Given the description of an element on the screen output the (x, y) to click on. 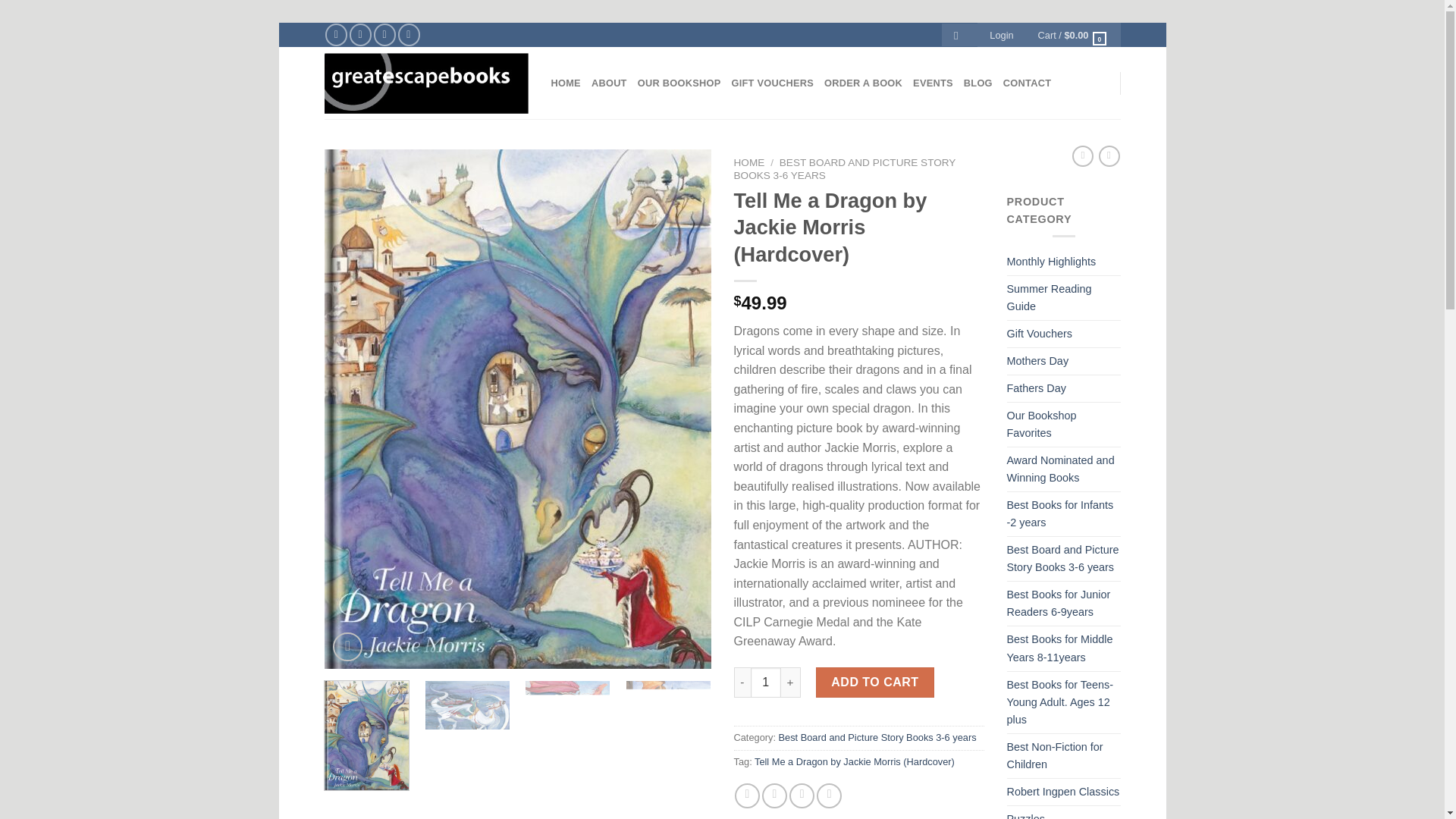
Zoom (347, 646)
Follow on Instagram (360, 34)
ABOUT (609, 83)
OUR BOOKSHOP (678, 83)
Send us an email (385, 34)
Great Escape Books - Great Ocean Road, Aireys Inlet (426, 83)
Email to a Friend (801, 795)
Follow on Facebook (335, 34)
HOME (564, 83)
HOME (749, 162)
GIFT VOUCHERS (771, 83)
Share on Facebook (747, 795)
1 (765, 682)
Call us (408, 34)
